Given the description of an element on the screen output the (x, y) to click on. 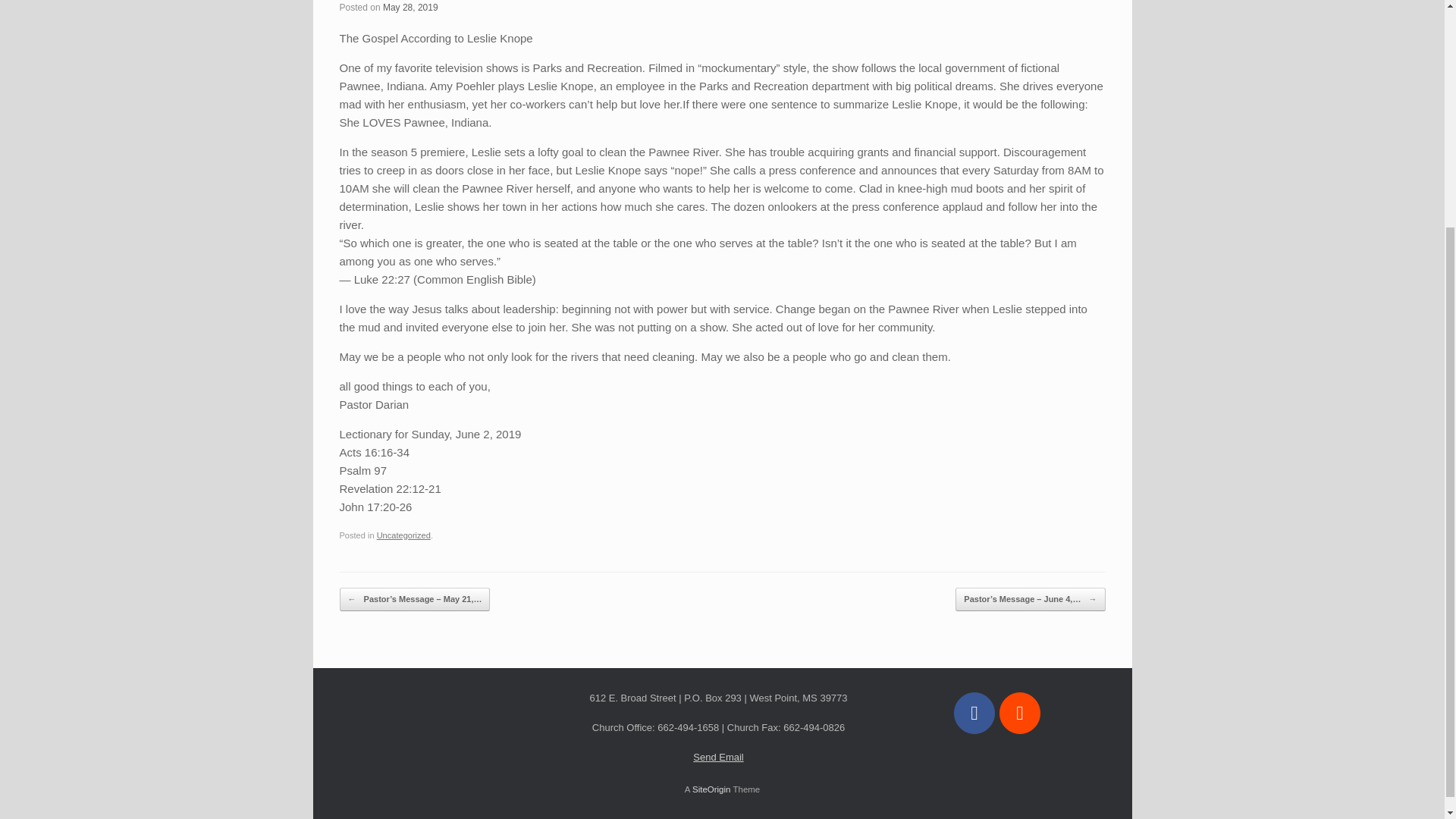
Uncategorized (403, 534)
8:31 pm (410, 7)
SiteOrigin (711, 788)
Send Email (717, 756)
May 28, 2019 (410, 7)
